Given the description of an element on the screen output the (x, y) to click on. 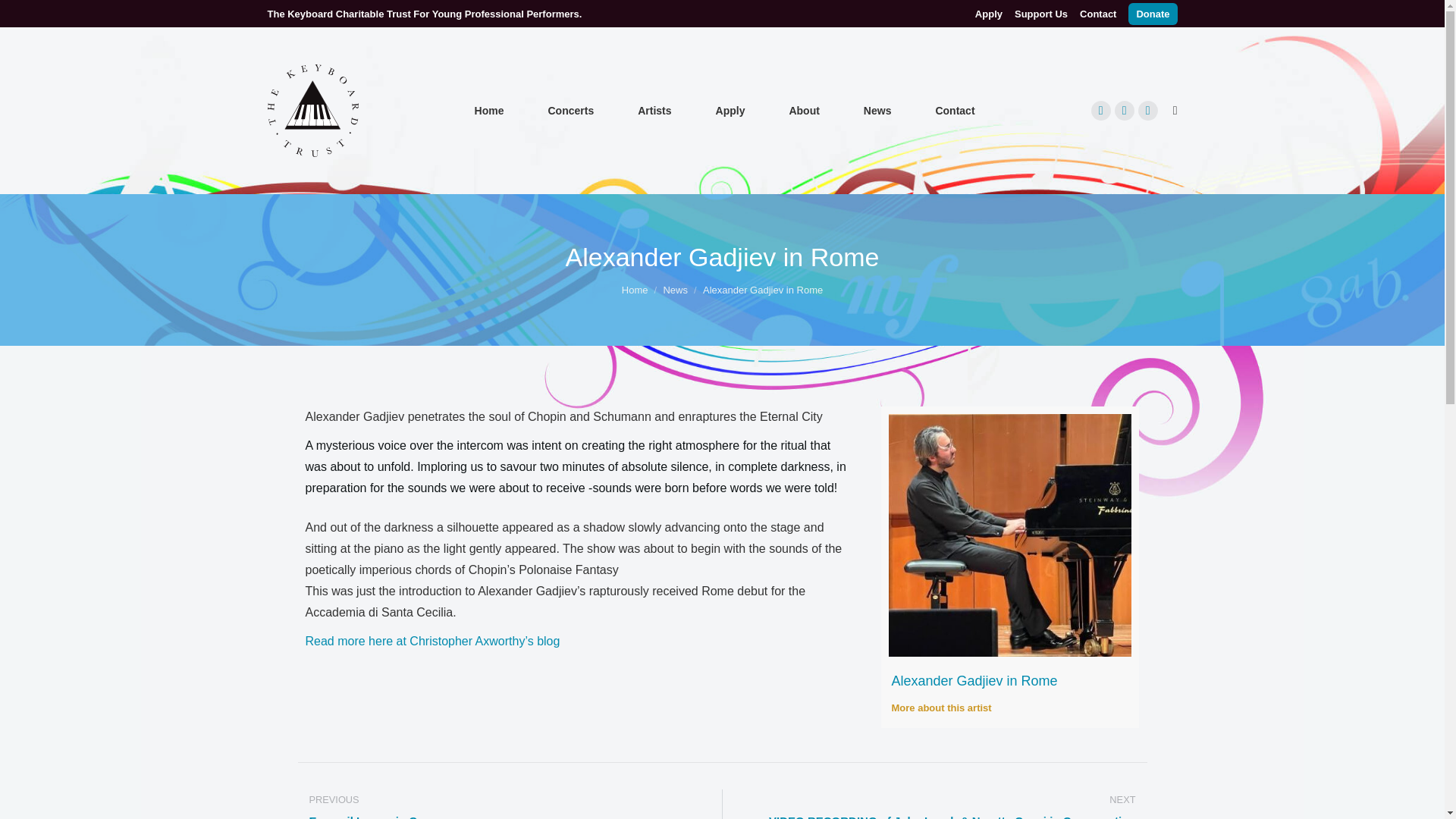
Apply (989, 12)
Facebook page opens in new window (1100, 110)
Artists (654, 110)
Home (634, 289)
X page opens in new window (1124, 110)
About (804, 110)
Donate (1152, 14)
Contact (1098, 12)
Apply (730, 110)
Concerts (570, 110)
Home (488, 110)
Go! (24, 16)
Contact (953, 110)
News (877, 110)
YouTube page opens in new window (1147, 110)
